Given the description of an element on the screen output the (x, y) to click on. 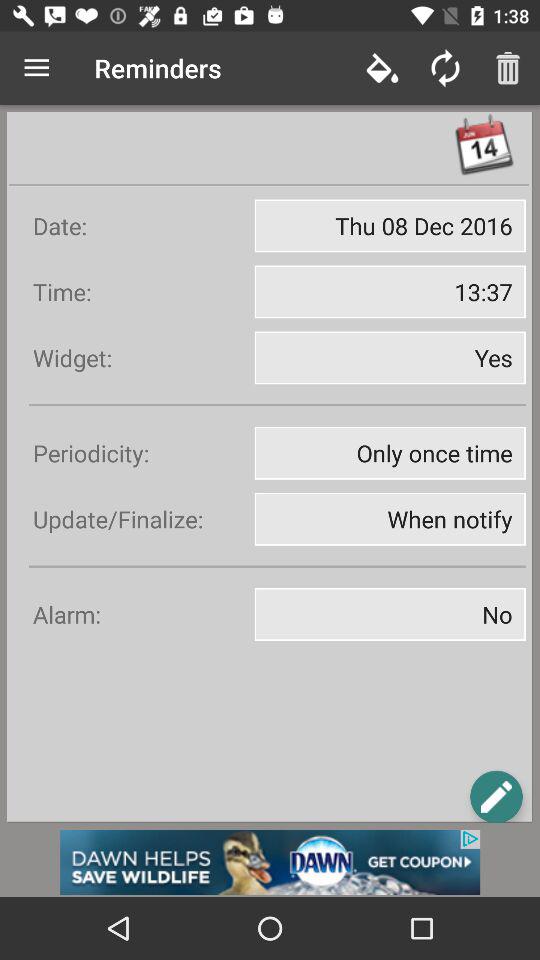
advertisement (270, 861)
